Given the description of an element on the screen output the (x, y) to click on. 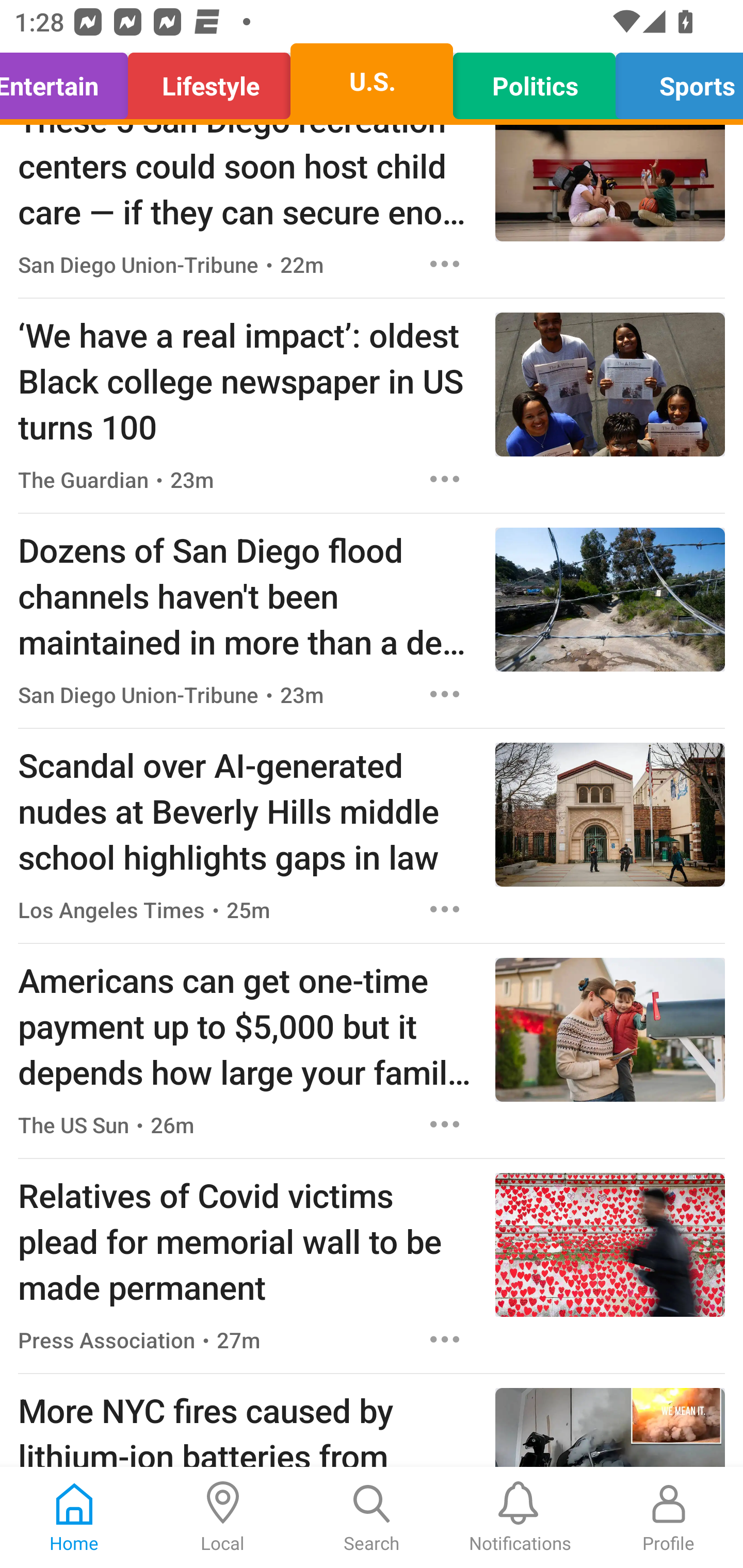
Entertain (69, 81)
Lifestyle (209, 81)
U.S. (371, 81)
Politics (534, 81)
Sports (673, 81)
Options (444, 264)
Options (444, 478)
Options (444, 694)
Options (444, 909)
Options (444, 1124)
Options (444, 1339)
Local (222, 1517)
Search (371, 1517)
Notifications (519, 1517)
Profile (668, 1517)
